Given the description of an element on the screen output the (x, y) to click on. 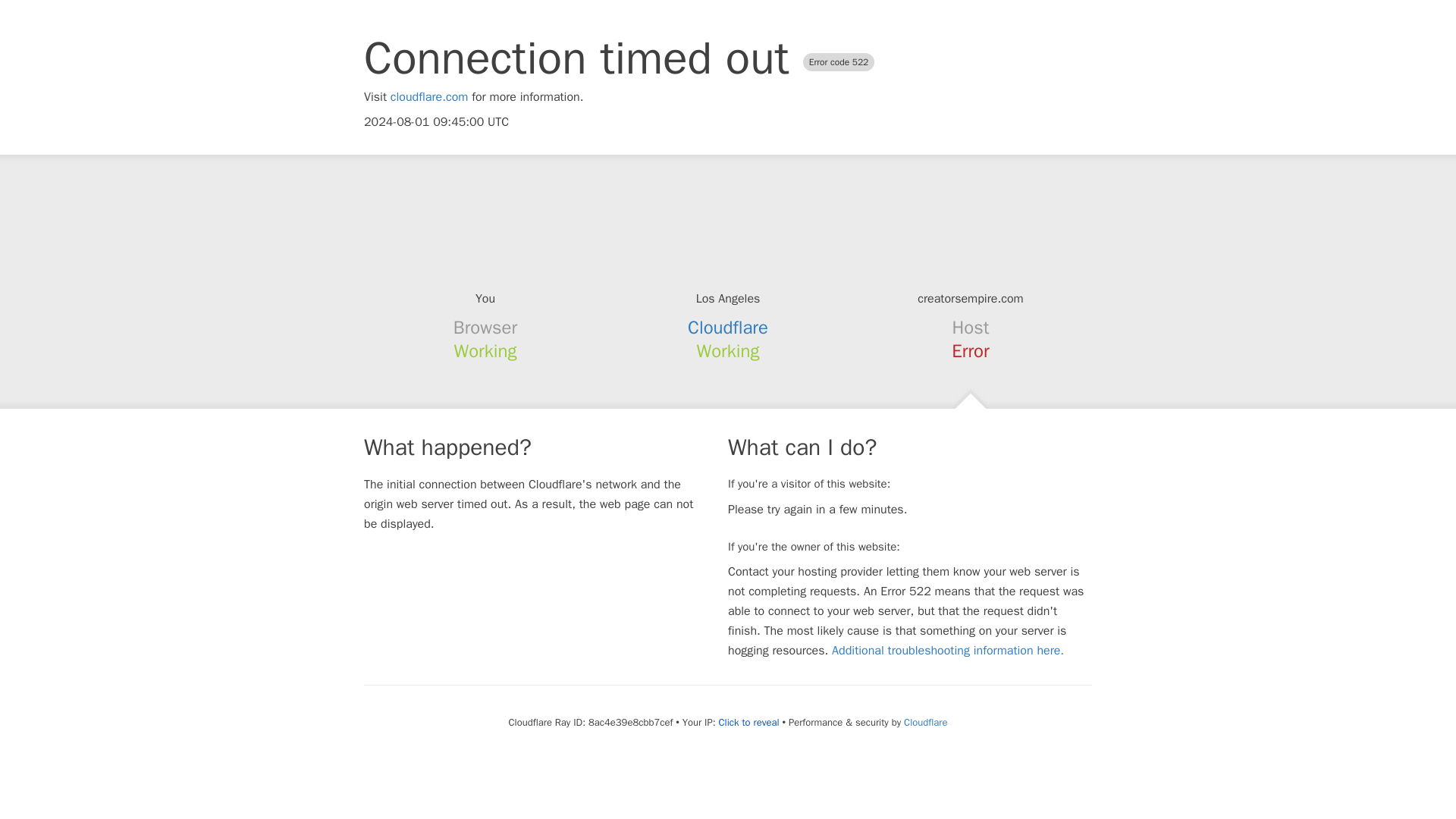
Click to reveal (748, 722)
cloudflare.com (429, 96)
Cloudflare (925, 721)
Additional troubleshooting information here. (947, 650)
Cloudflare (727, 327)
